Given the description of an element on the screen output the (x, y) to click on. 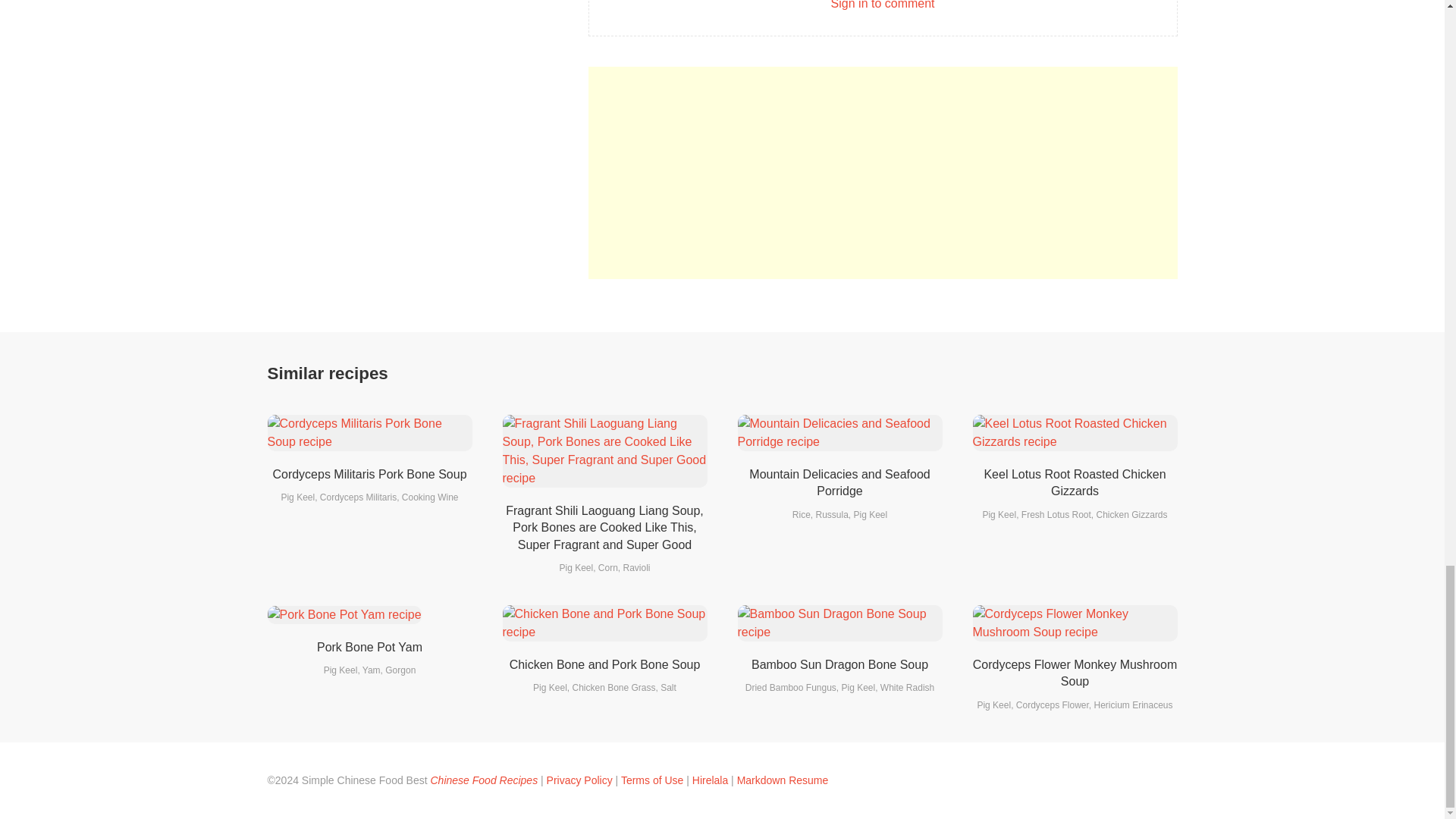
Keel Lotus Root Roasted Chicken Gizzards (1075, 482)
Mountain Delicacies and Seafood Porridge (839, 482)
Cordyceps Militaris Pork Bone Soup (368, 473)
Sign in to comment (882, 4)
